Given the description of an element on the screen output the (x, y) to click on. 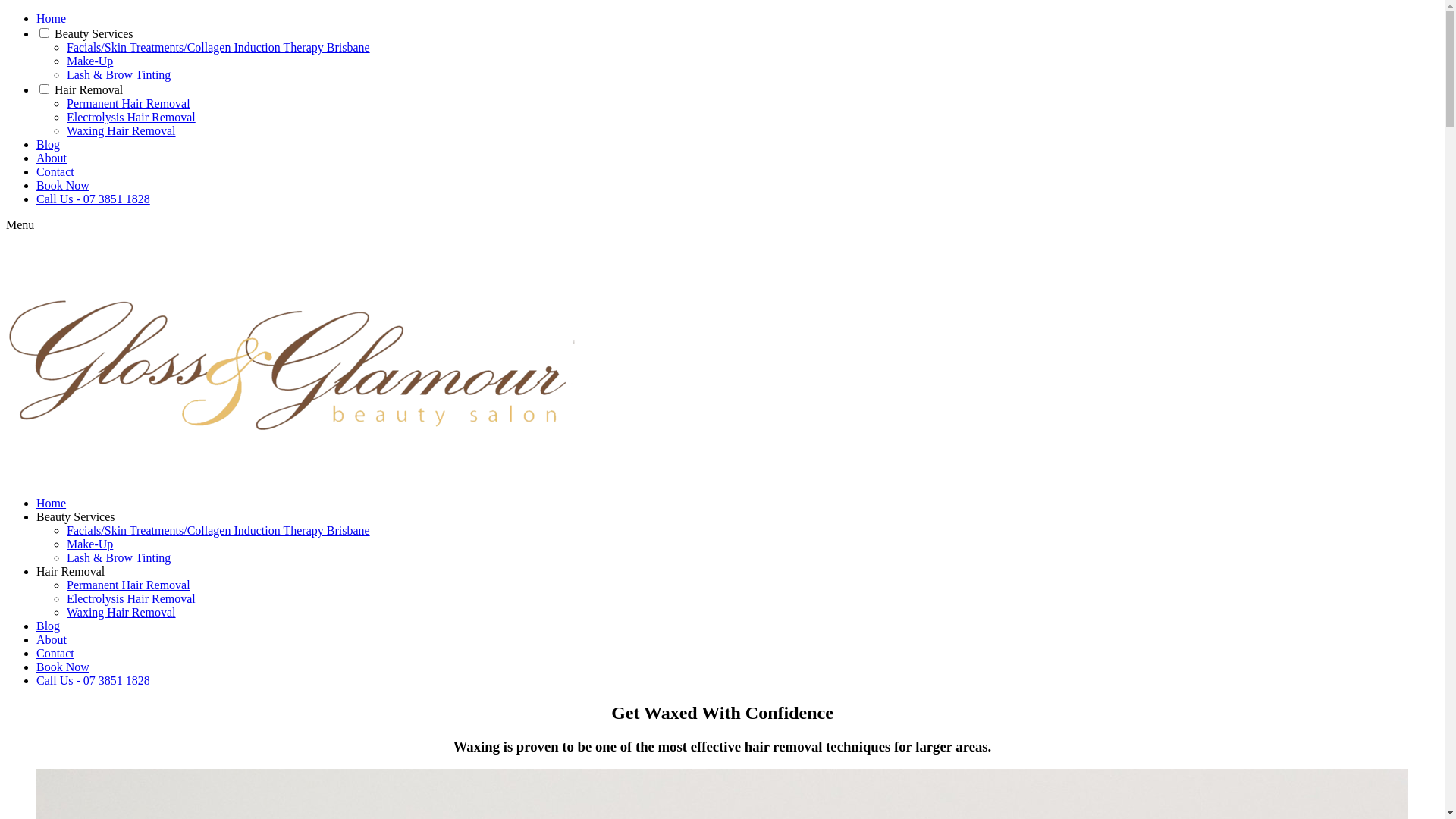
Blog Element type: text (47, 625)
Waxing Hair Removal Element type: text (120, 130)
About Element type: text (51, 157)
Hair Removal Element type: text (88, 89)
Electrolysis Hair Removal Element type: text (130, 116)
Beauty Services Element type: text (75, 516)
Electrolysis Hair Removal Element type: text (130, 598)
Call Us - 07 3851 1828 Element type: text (93, 198)
Contact Element type: text (55, 652)
Waxing Hair Removal Element type: text (120, 611)
Facials/Skin Treatments/Collagen Induction Therapy Brisbane Element type: text (218, 46)
Menu Element type: text (20, 224)
Hair Removal Element type: text (70, 570)
Lash & Brow Tinting Element type: text (118, 557)
Facials/Skin Treatments/Collagen Induction Therapy Brisbane Element type: text (218, 530)
Permanent Hair Removal Element type: text (128, 103)
Make-Up Element type: text (89, 543)
Permanent Hair Removal Element type: text (128, 584)
Book Now Element type: text (62, 666)
Book Now Element type: text (62, 184)
Lash & Brow Tinting Element type: text (118, 74)
Home Element type: text (50, 18)
Home Element type: text (50, 502)
Beauty Services Element type: text (93, 33)
Blog Element type: text (47, 144)
About Element type: text (51, 639)
Make-Up Element type: text (89, 60)
Contact Element type: text (55, 171)
Call Us - 07 3851 1828 Element type: text (93, 680)
